Given the description of an element on the screen output the (x, y) to click on. 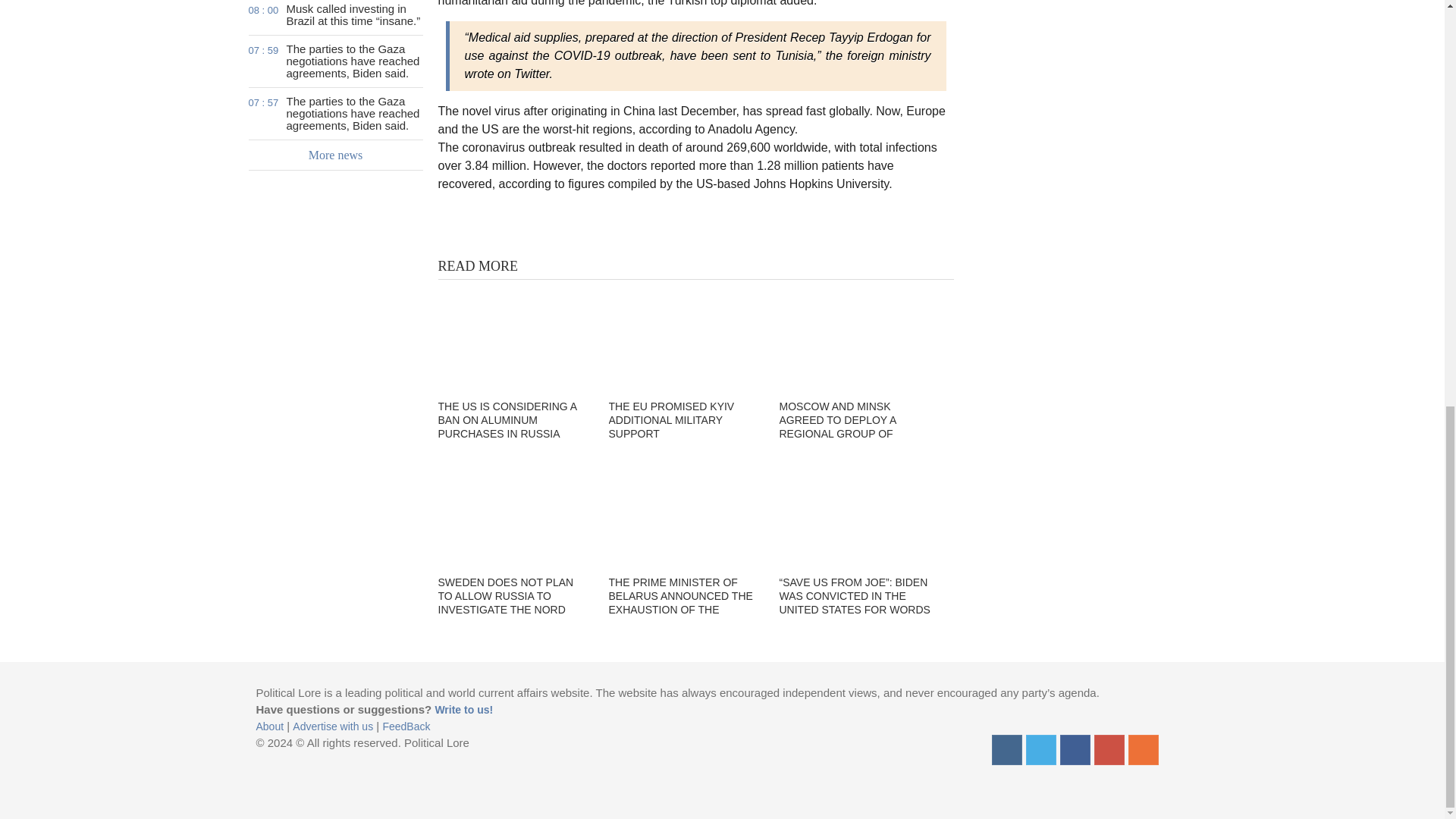
More news (335, 155)
Twitter (1040, 749)
The EU promised Kyiv additional military support (684, 337)
Moscow and Minsk agreed to deploy a regional group of troops (854, 337)
The US is considering a ban on aluminum purchases in Russia (513, 337)
Facebook (1074, 749)
